Given the description of an element on the screen output the (x, y) to click on. 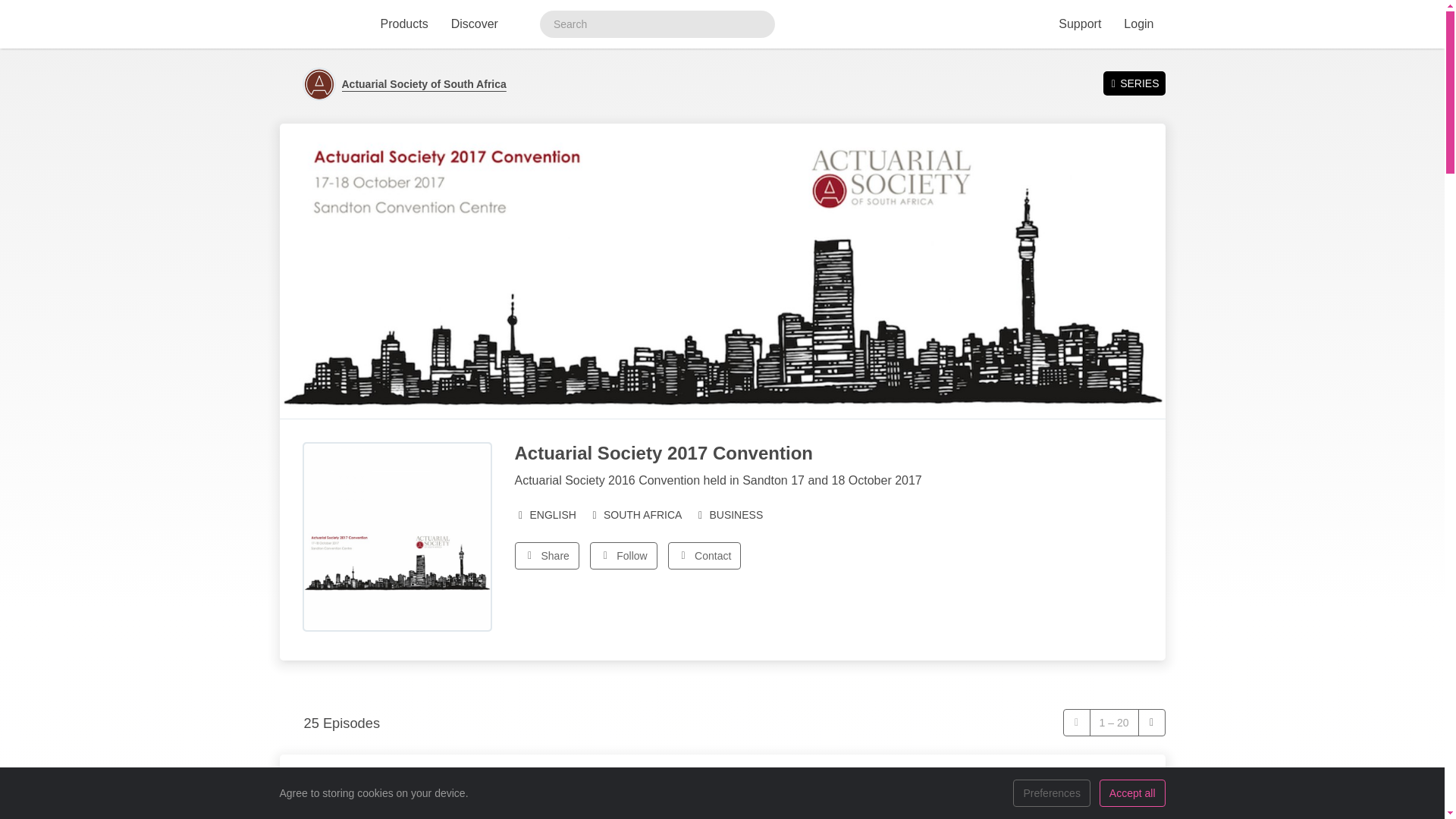
Login (1138, 24)
 SERIES (1133, 83)
Show previous page (1076, 722)
Products (403, 24)
Show next page (1150, 722)
Share (545, 555)
Contact (704, 555)
Search (758, 23)
Visit iono.fm homepage (316, 24)
Support (1079, 24)
Follow (622, 555)
Discover (474, 24)
Actuarial Society of South Africa (422, 83)
